Given the description of an element on the screen output the (x, y) to click on. 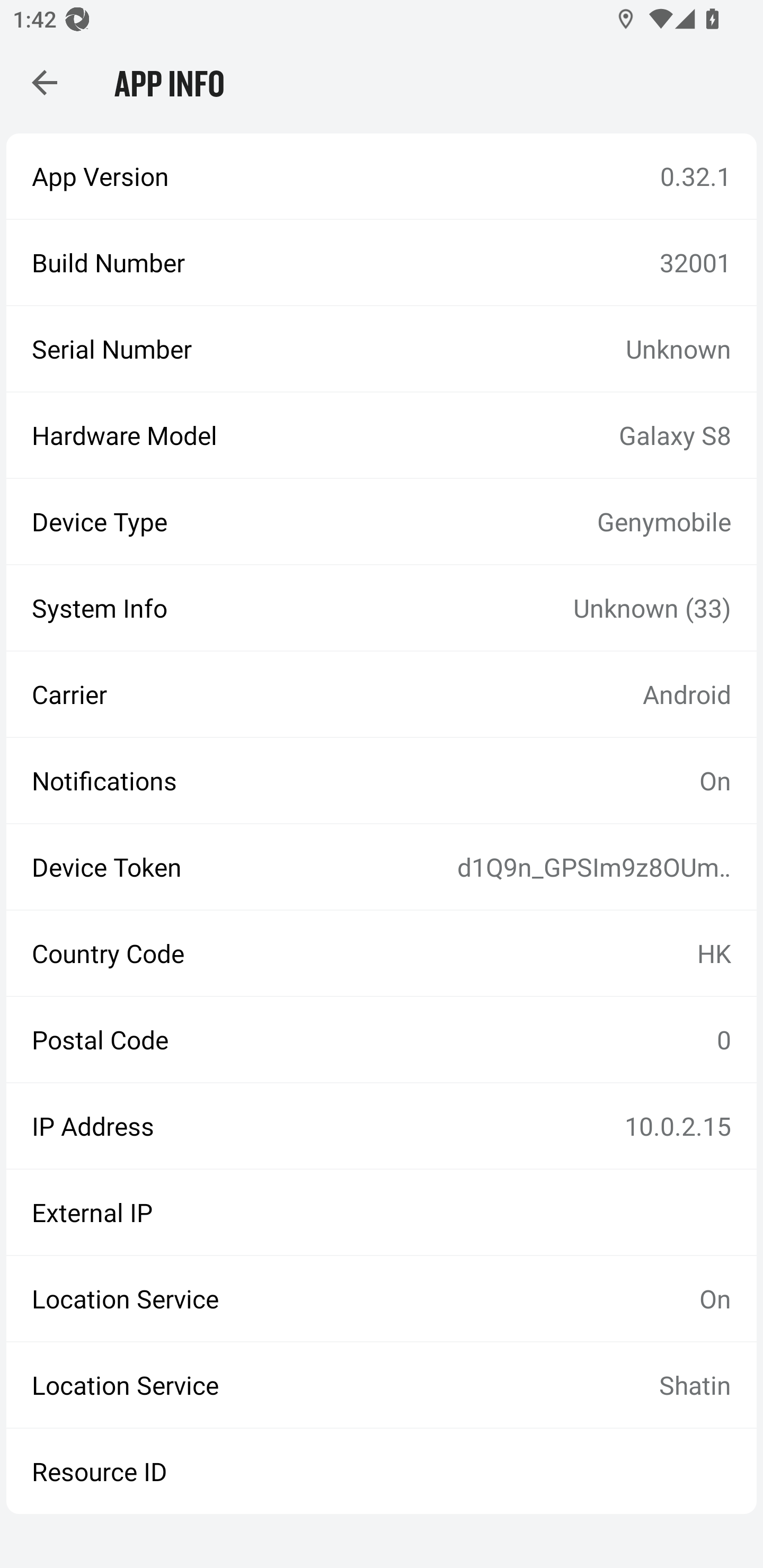
Navigate up (44, 82)
